Given the description of an element on the screen output the (x, y) to click on. 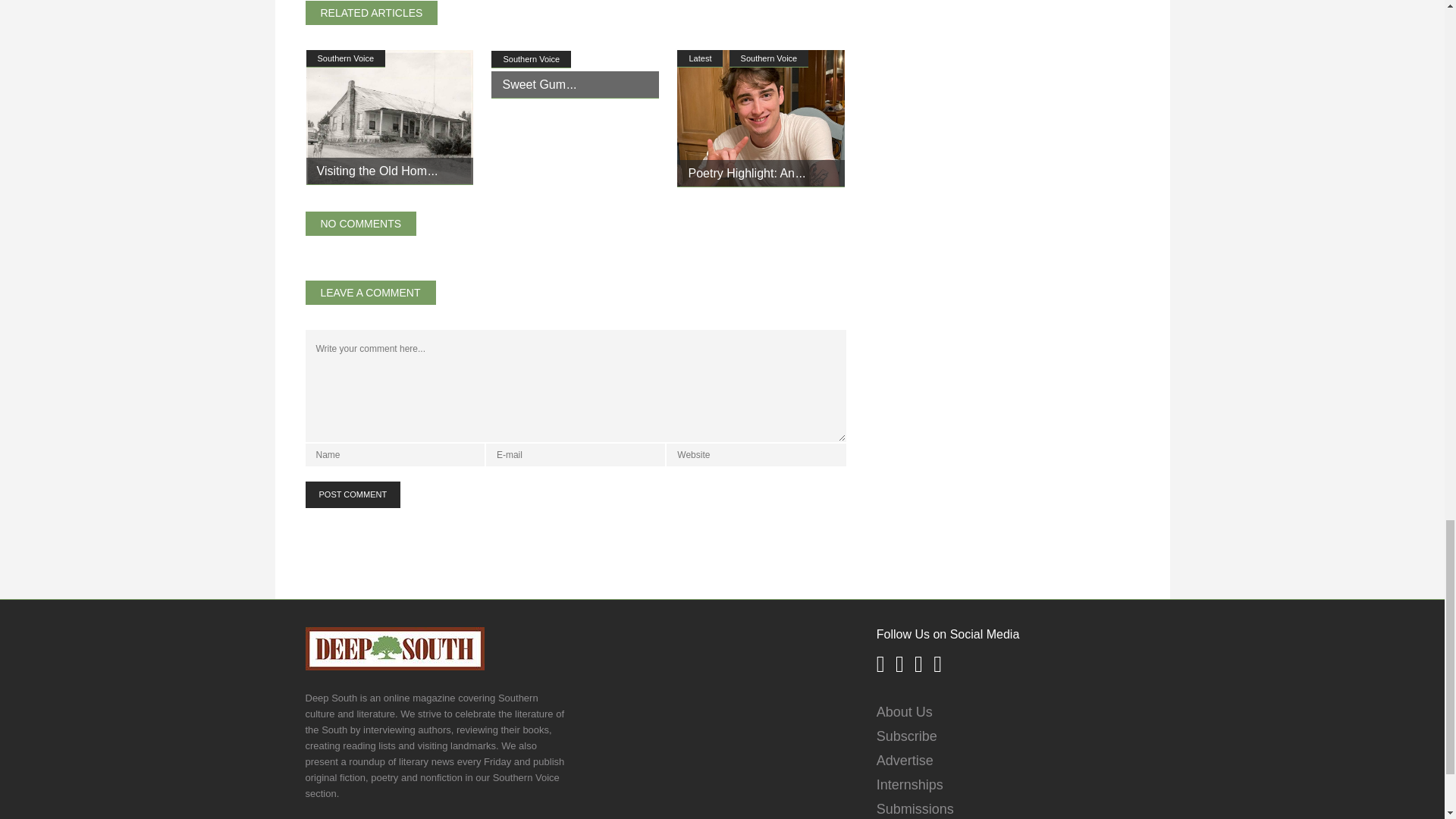
Poetry Highlight: An Interview with C.W. Bryan (746, 173)
Visiting the Old Homeplace (389, 117)
POST COMMENT (352, 494)
Visiting the Old Homeplace (377, 170)
Poetry Highlight: An Interview with C.W. Bryan (760, 118)
Sweet Gum (539, 83)
